Given the description of an element on the screen output the (x, y) to click on. 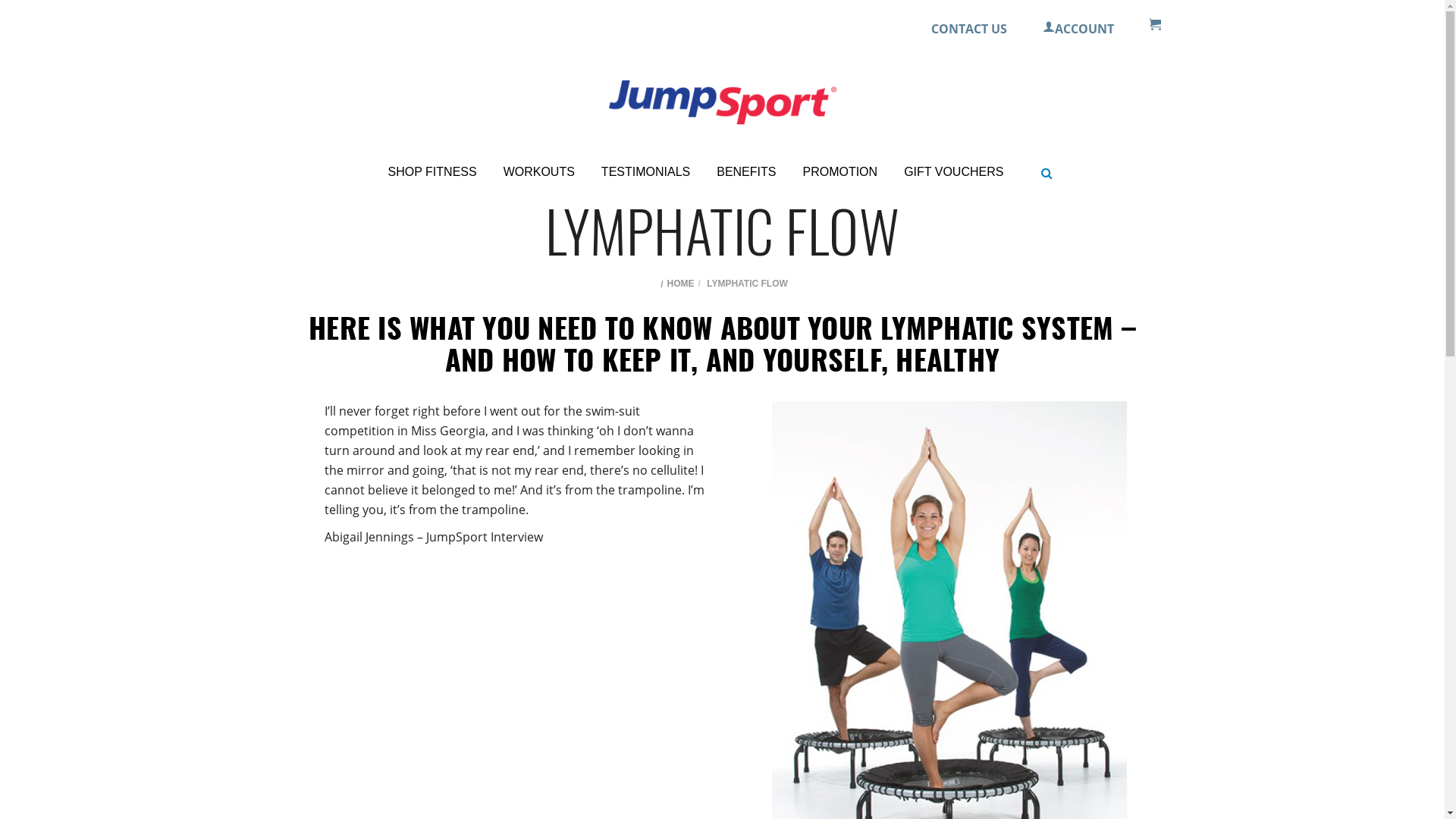
GIFT VOUCHERS Element type: text (953, 172)
ACCOUNT Element type: text (1075, 28)
PROMOTION Element type: text (839, 172)
CONTACT US Element type: text (969, 28)
TESTIMONIALS Element type: text (645, 172)
WORKOUTS Element type: text (538, 172)
SHOP FITNESS Element type: text (432, 172)
BENEFITS Element type: text (746, 172)
HOME Element type: text (680, 283)
